Given the description of an element on the screen output the (x, y) to click on. 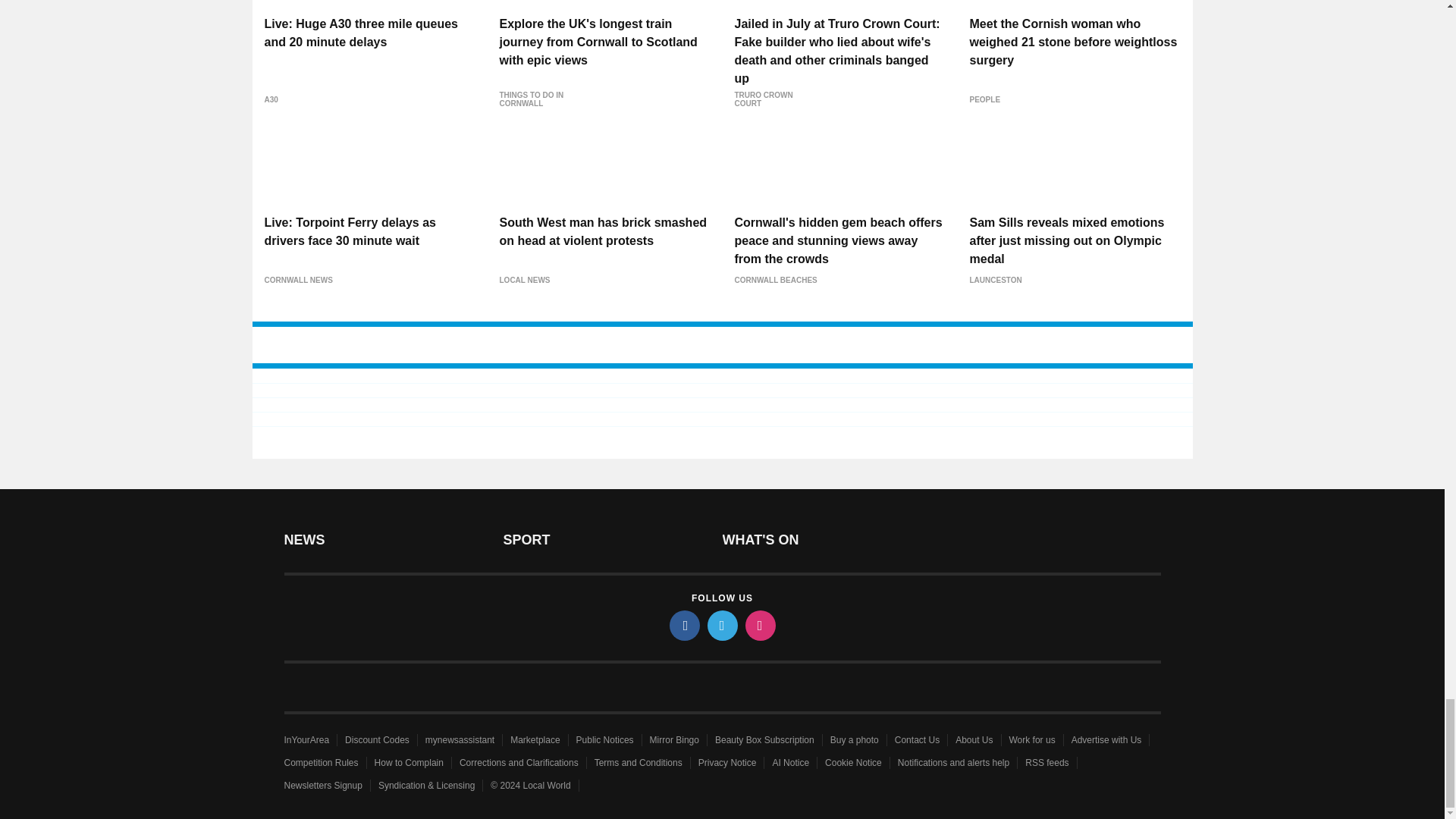
twitter (721, 625)
instagram (759, 625)
facebook (683, 625)
